Given the description of an element on the screen output the (x, y) to click on. 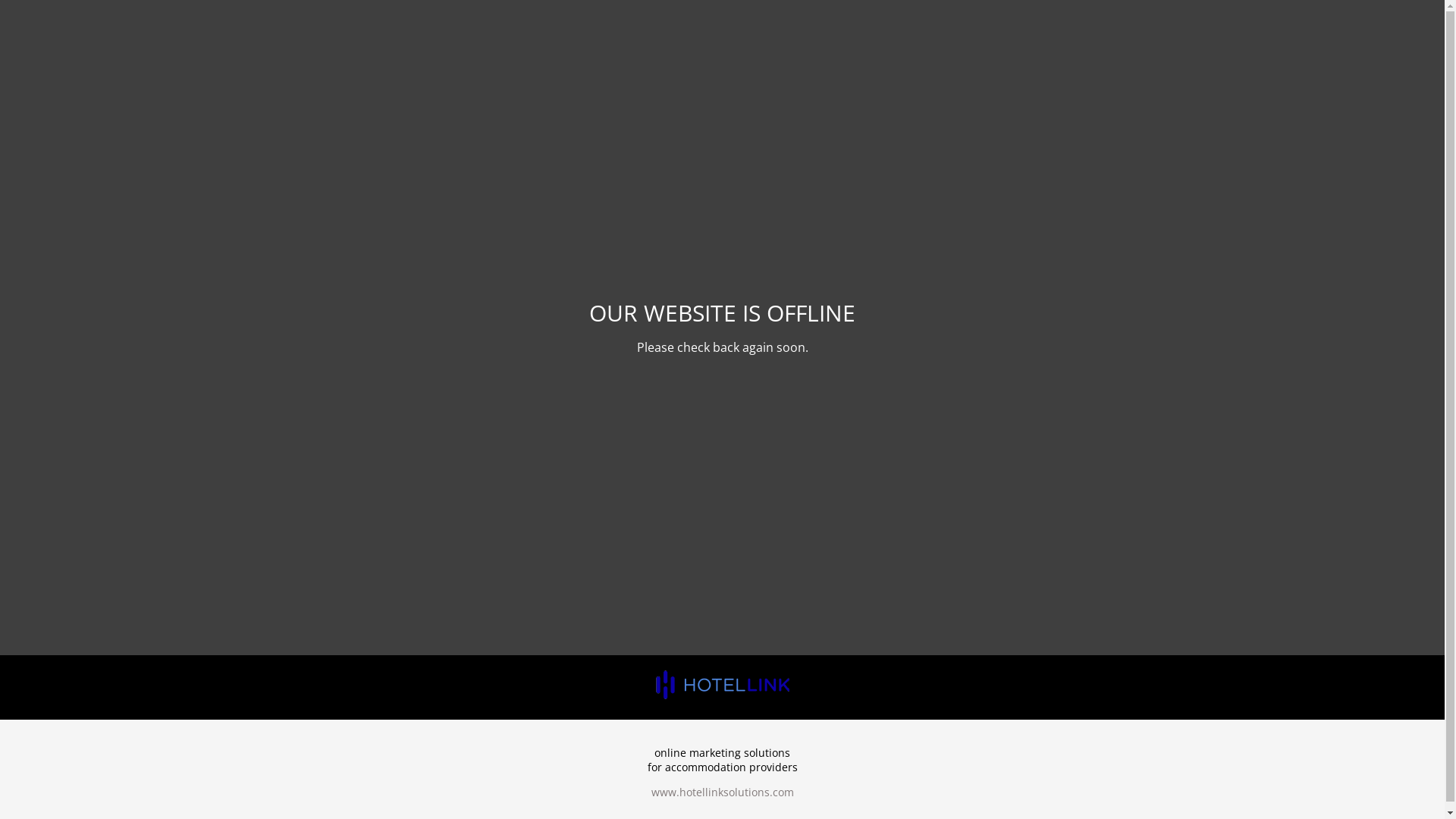
www.hotellinksolutions.com Element type: text (721, 791)
